Given the description of an element on the screen output the (x, y) to click on. 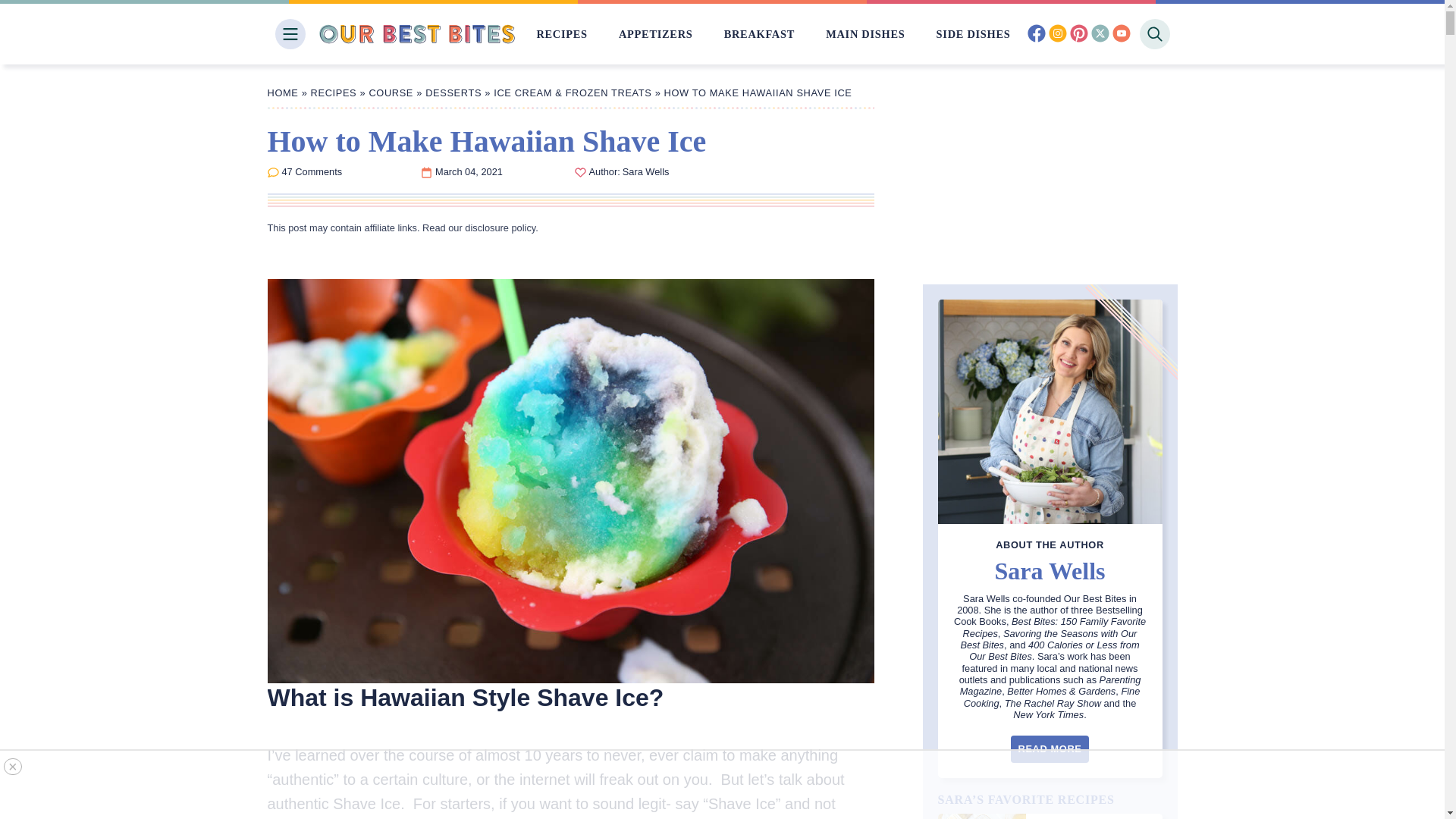
RECIPES (560, 33)
MAIN DISHES (864, 33)
SIDE DISHES (973, 33)
APPETIZERS (655, 33)
twitter (1099, 34)
BREAKFAST (758, 33)
